Given the description of an element on the screen output the (x, y) to click on. 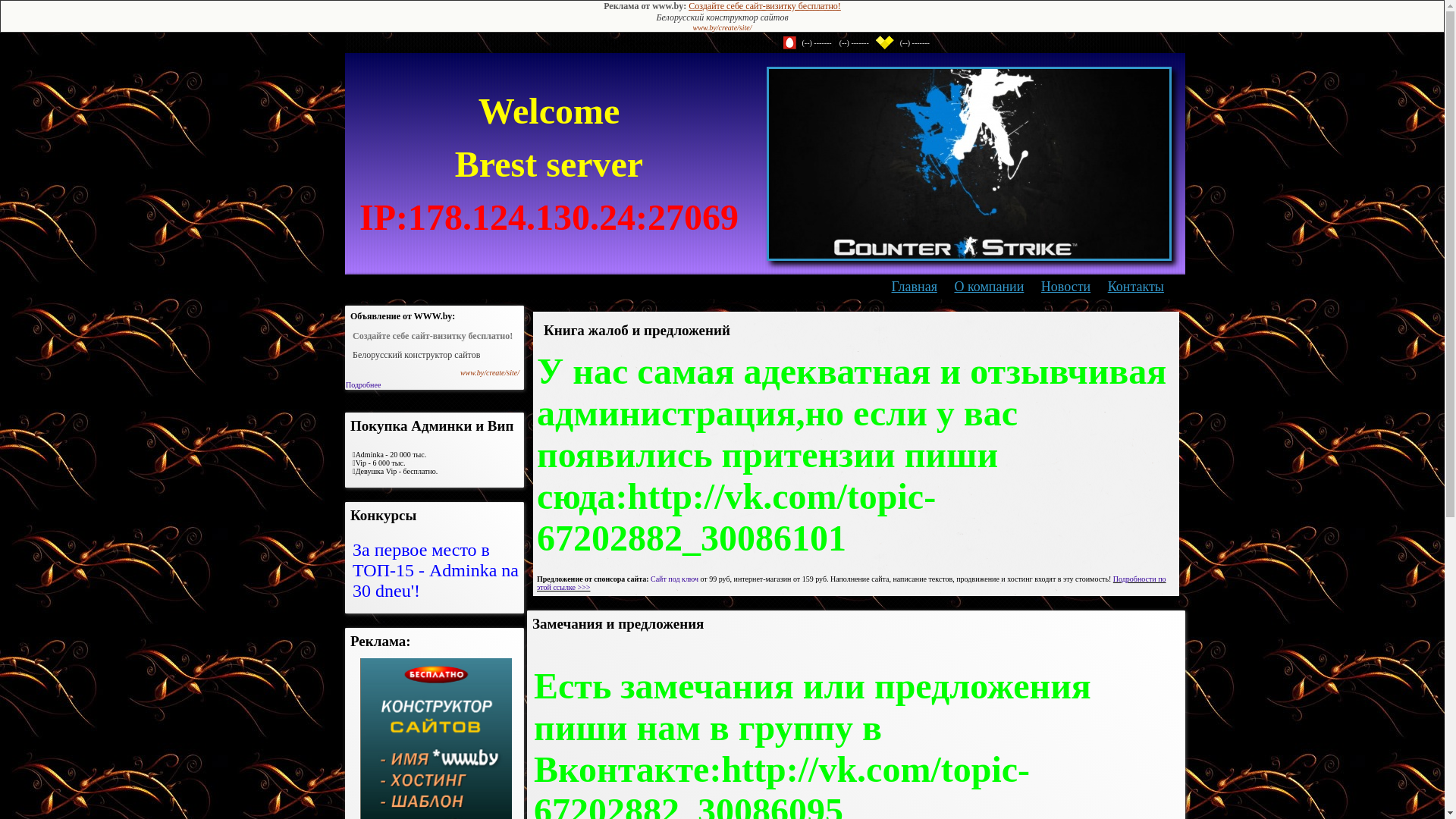
www.by/create/site/ Element type: text (721, 27)
www.by/create/site/ Element type: text (489, 372)
